Given the description of an element on the screen output the (x, y) to click on. 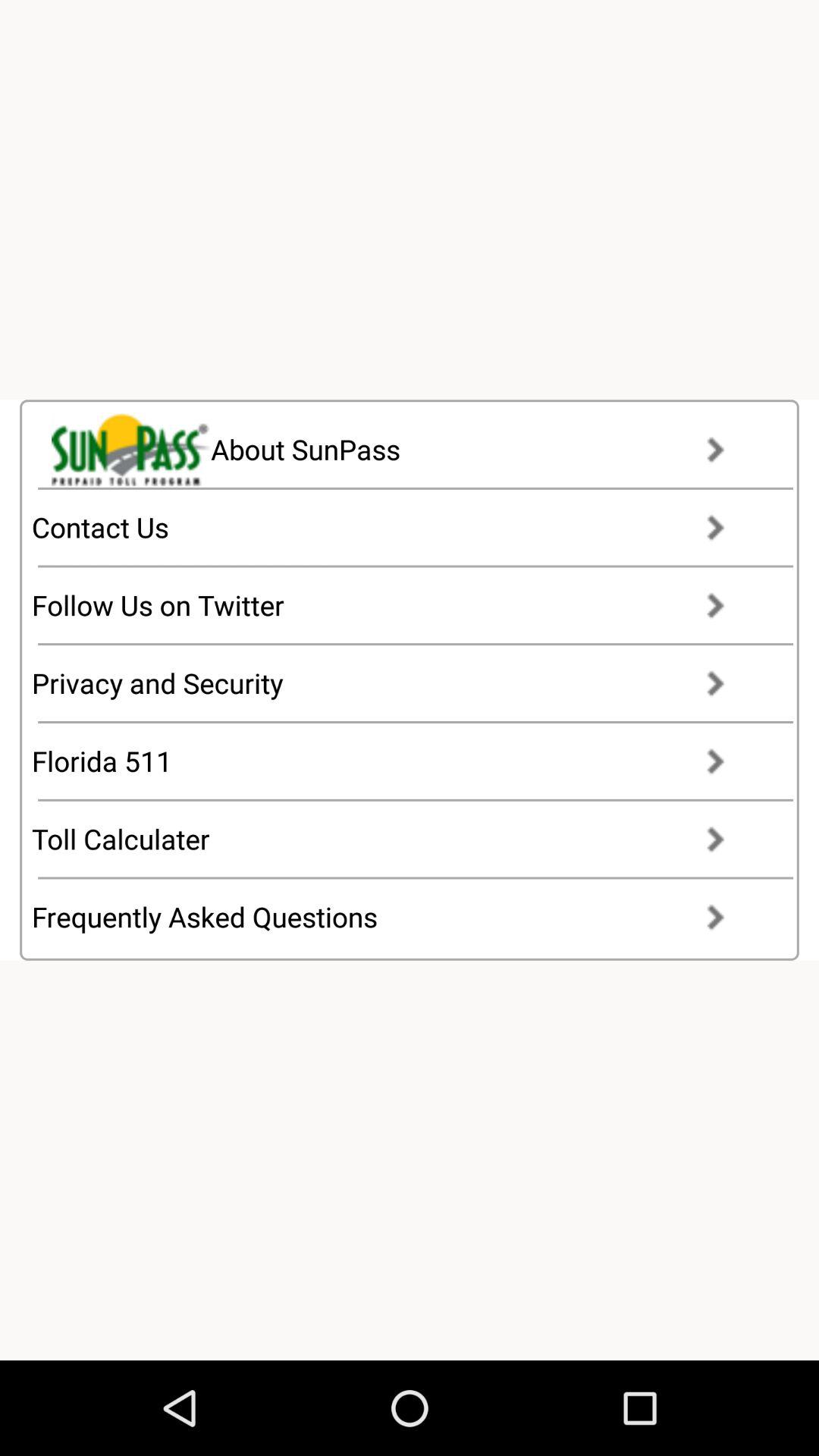
select the contact us (392, 527)
